Given the description of an element on the screen output the (x, y) to click on. 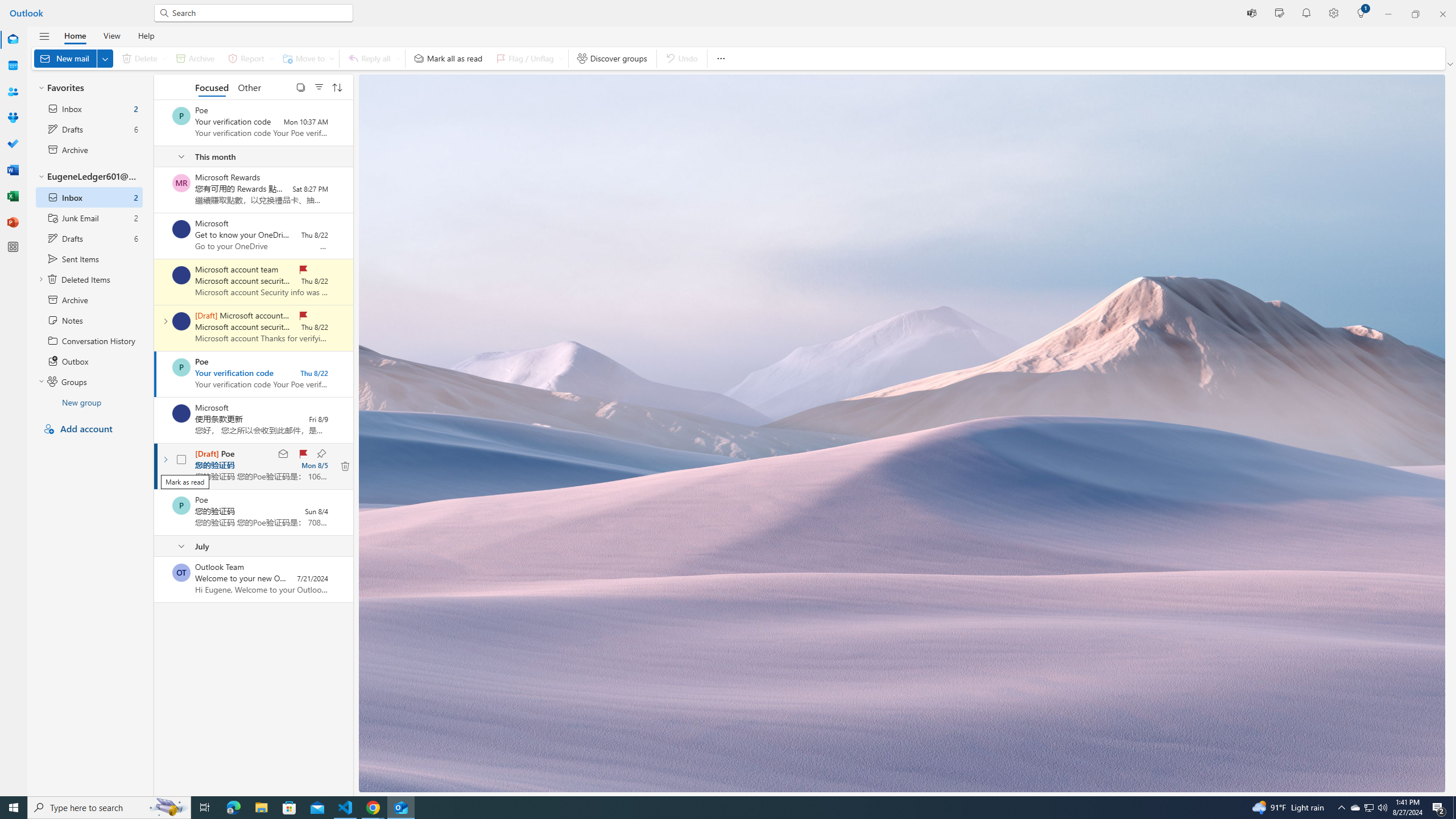
Word (12, 170)
PowerPoint (12, 222)
Class: Z0dEQ IKEiQ (345, 466)
Expand to see more respond options (398, 58)
Select (300, 86)
People (12, 92)
Flag / Unflag (527, 58)
Word (12, 169)
Excel (12, 196)
Poe (180, 505)
Microsoft (180, 413)
People (12, 91)
Filter (318, 86)
